Given the description of an element on the screen output the (x, y) to click on. 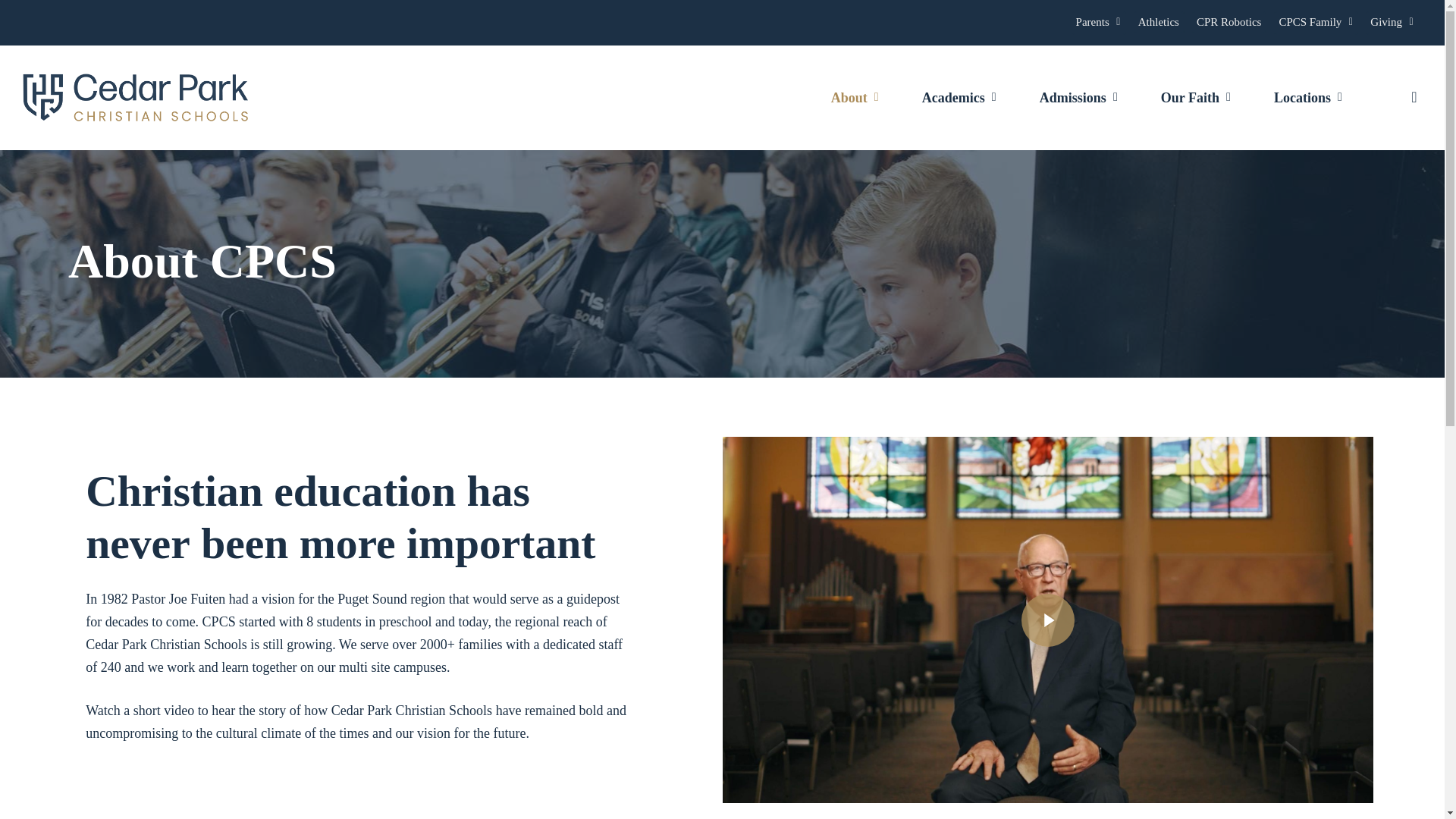
Academics (961, 97)
Parents (1098, 23)
CPR Robotics (1229, 22)
Giving (1391, 23)
About (856, 97)
Athletics (1159, 22)
CPCS Family (1316, 23)
